Given the description of an element on the screen output the (x, y) to click on. 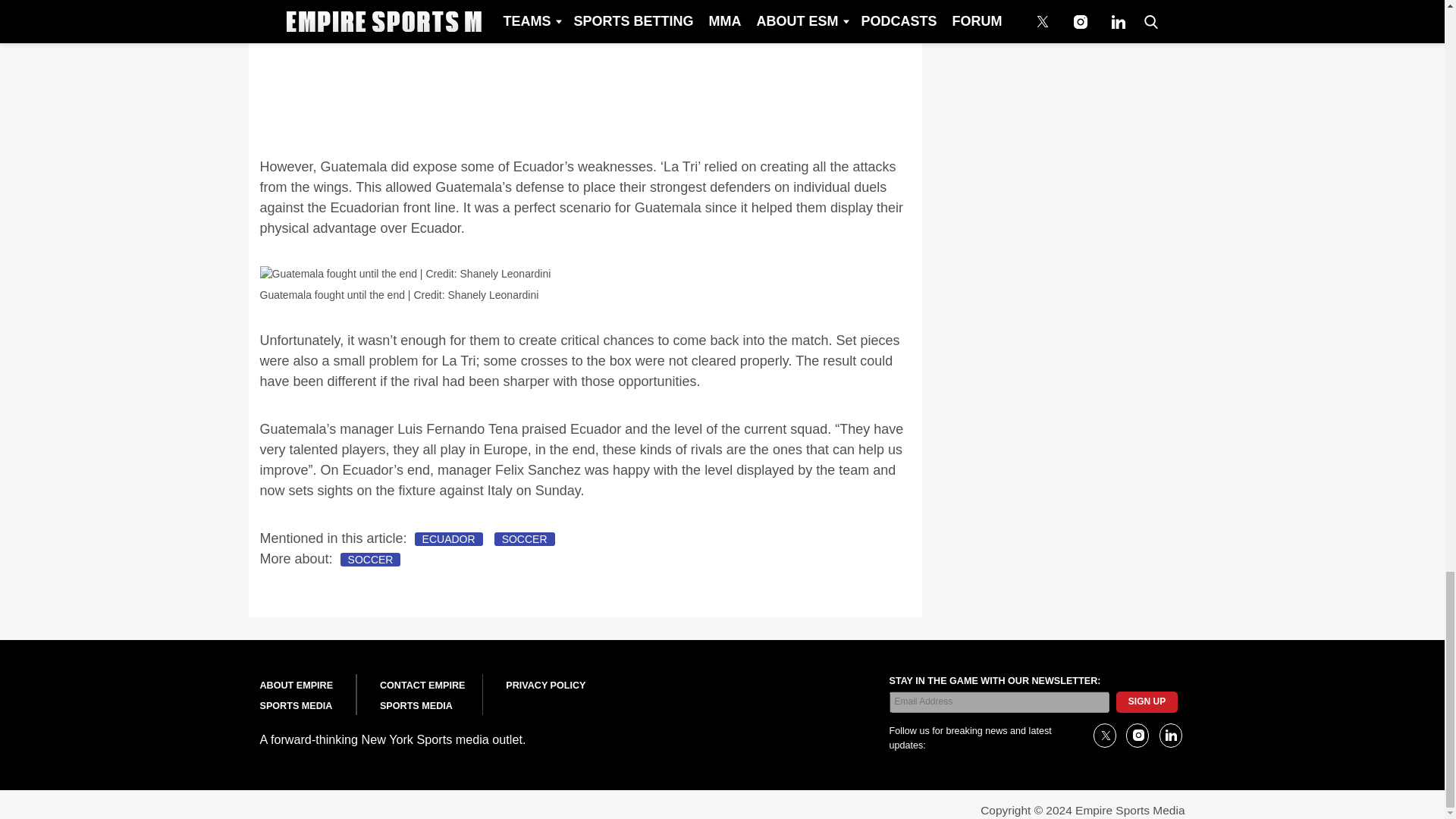
SIGN UP (1146, 701)
SOCCER (524, 539)
ABOUT EMPIRE SPORTS MEDIA (296, 695)
ECUADOR (448, 539)
Connect with us on LinkedIn (1169, 735)
Follow us on Instagram (1136, 735)
PRIVACY POLICY (545, 685)
CONTACT EMPIRE SPORTS MEDIA (422, 695)
Follow us on Twitter (1104, 735)
SOCCER (370, 559)
